Given the description of an element on the screen output the (x, y) to click on. 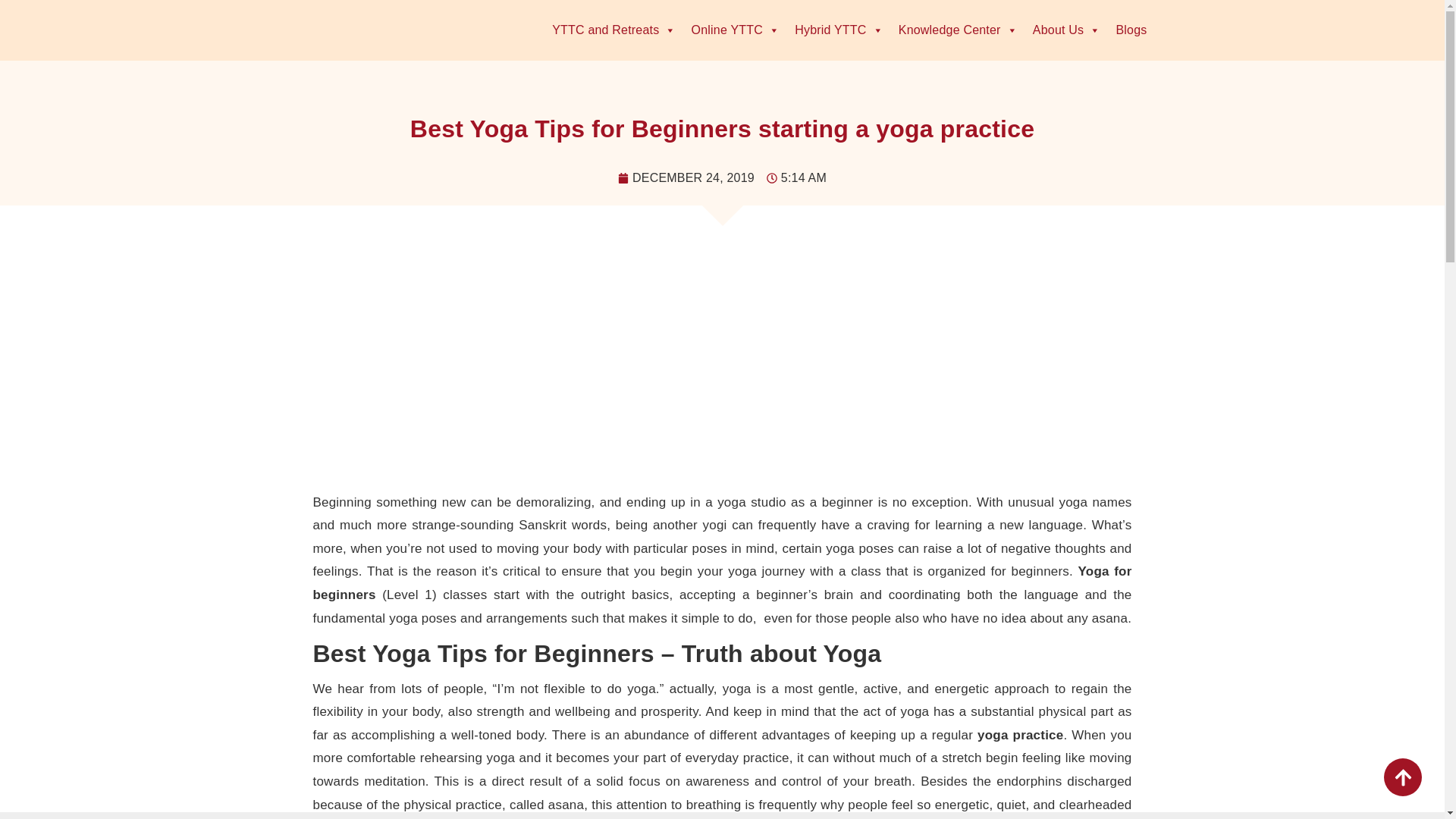
Knowledge Center (958, 30)
YTTC and Retreats (613, 30)
Online YTTC (735, 30)
Hybrid YTTC (839, 30)
About Us (1066, 30)
